Given the description of an element on the screen output the (x, y) to click on. 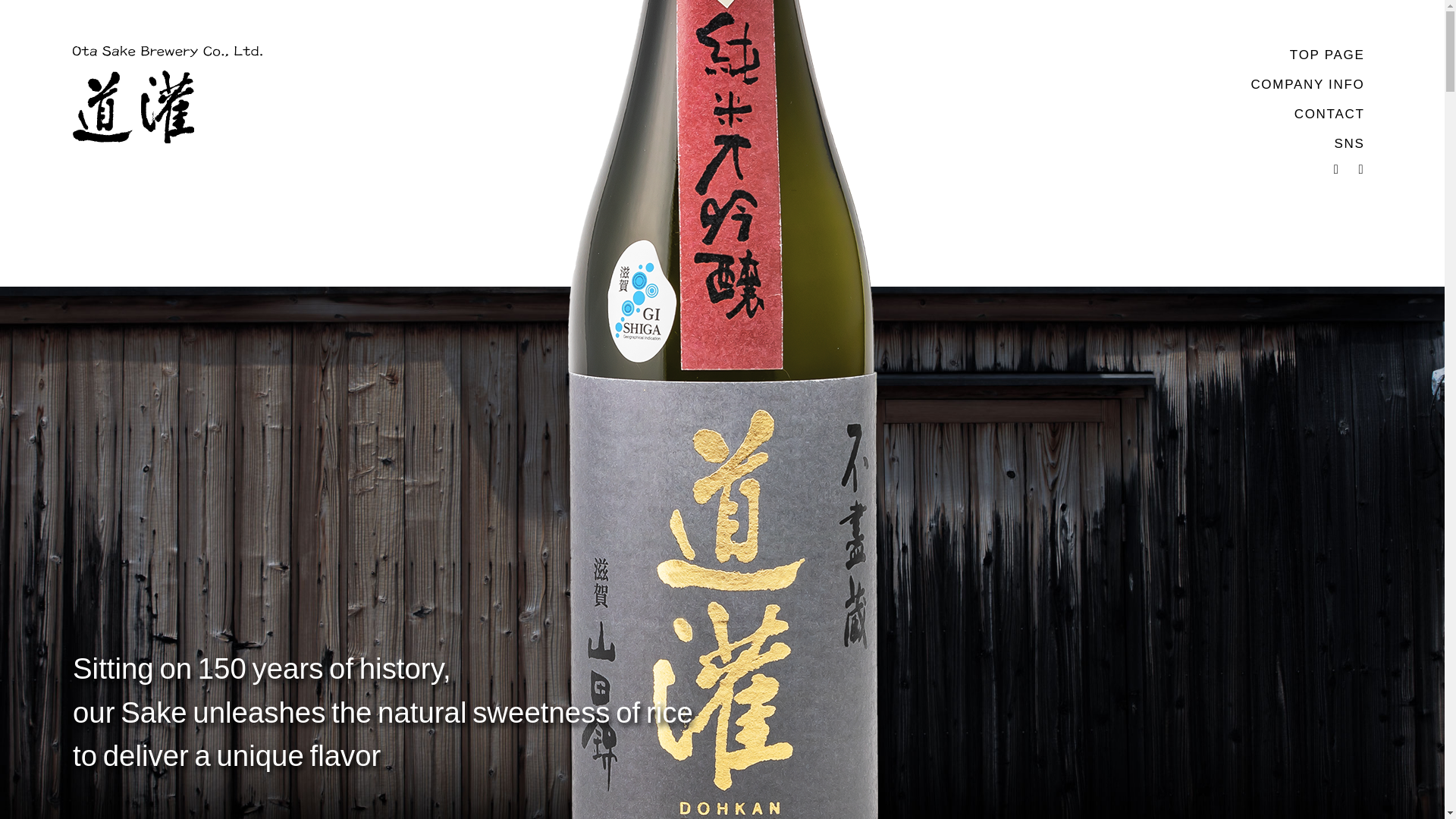
SNS (1348, 143)
TOP PAGE (1327, 55)
COMPANY INFO (1307, 84)
CONTACT (1329, 114)
